Given the description of an element on the screen output the (x, y) to click on. 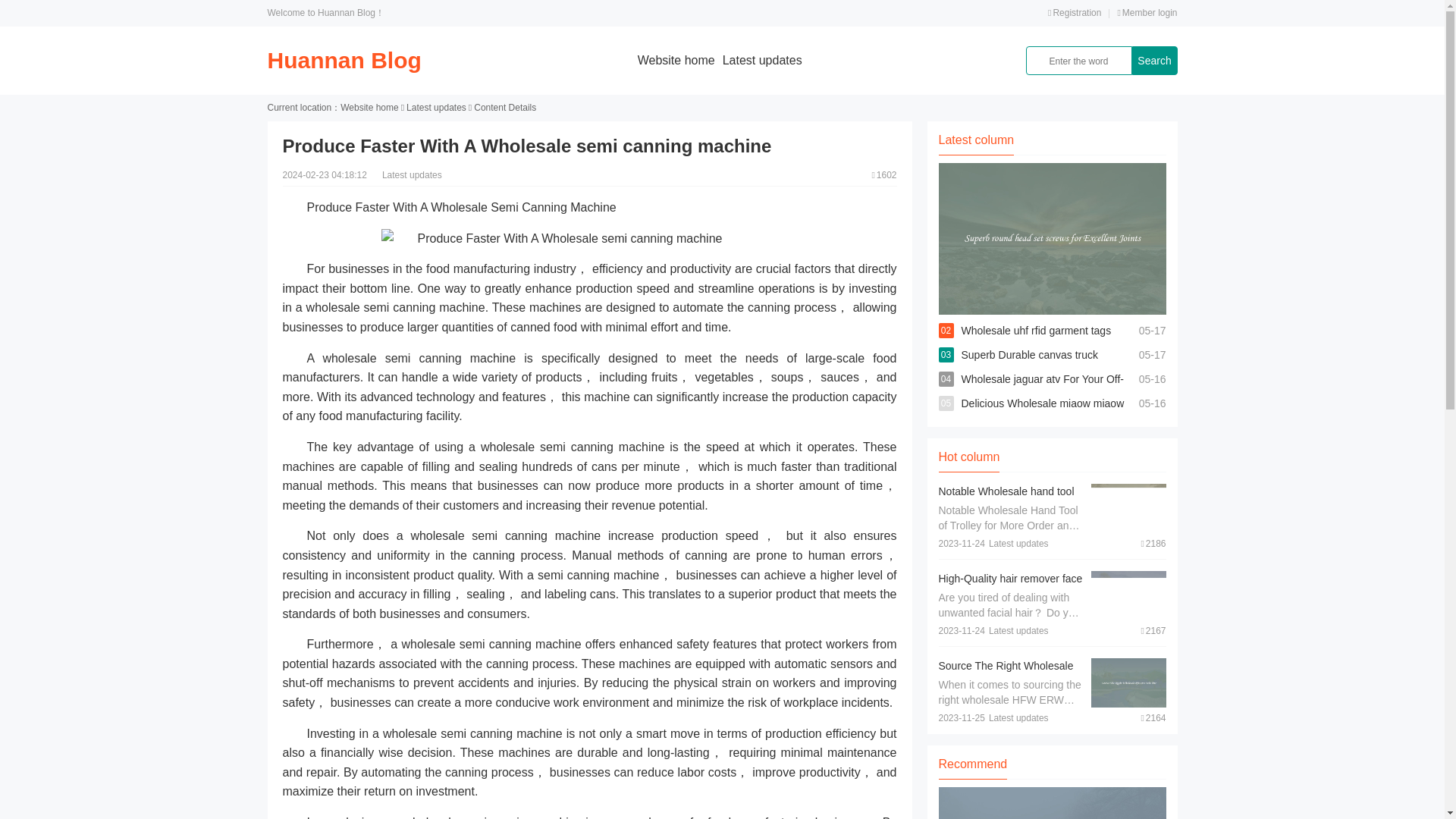
High-Quality hair remover face At Unbelievable Prices (1011, 585)
Website home (675, 60)
Wholesale jaguar atv For Your Off-Road Journeys (1042, 391)
Huannan Blog (343, 59)
Latest updates (435, 107)
Website home (368, 107)
Superb Durable canvas truck canopies For Intact Storage (1029, 366)
Search (1153, 60)
Member login (1146, 12)
Latest updates (762, 60)
Wholesale uhf rfid garment tags with Your Safety in Mind (1036, 342)
Source The Right Wholesale hfw erw tube line (1006, 673)
Registration (1074, 12)
Delicious Wholesale miaow miaow snacks For A Healthy Diet (1042, 415)
